Given the description of an element on the screen output the (x, y) to click on. 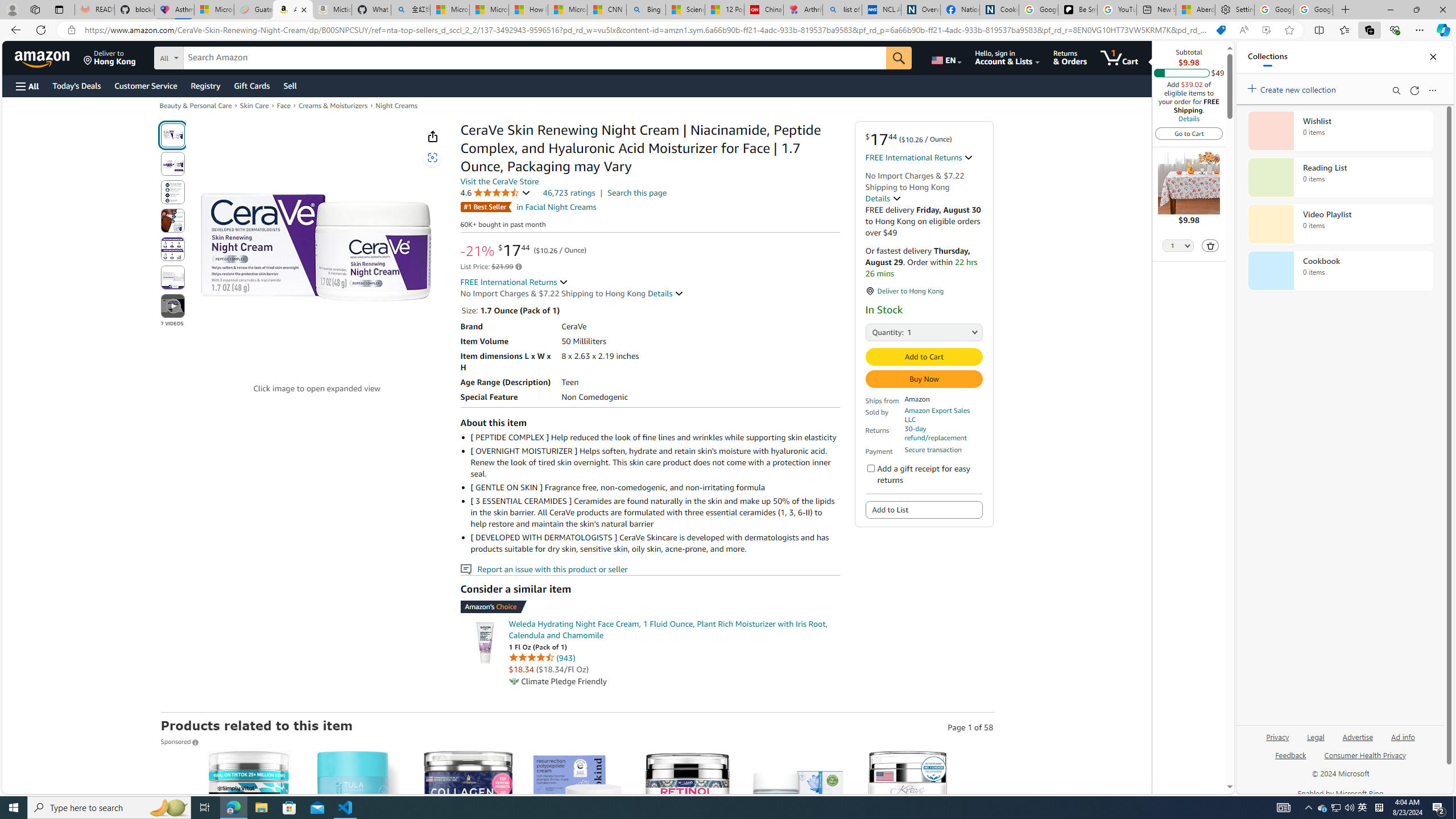
Add a gift receipt for easy returns (870, 467)
Secure transaction (933, 449)
Customer Service (145, 85)
Add to Cart (924, 356)
